Given the description of an element on the screen output the (x, y) to click on. 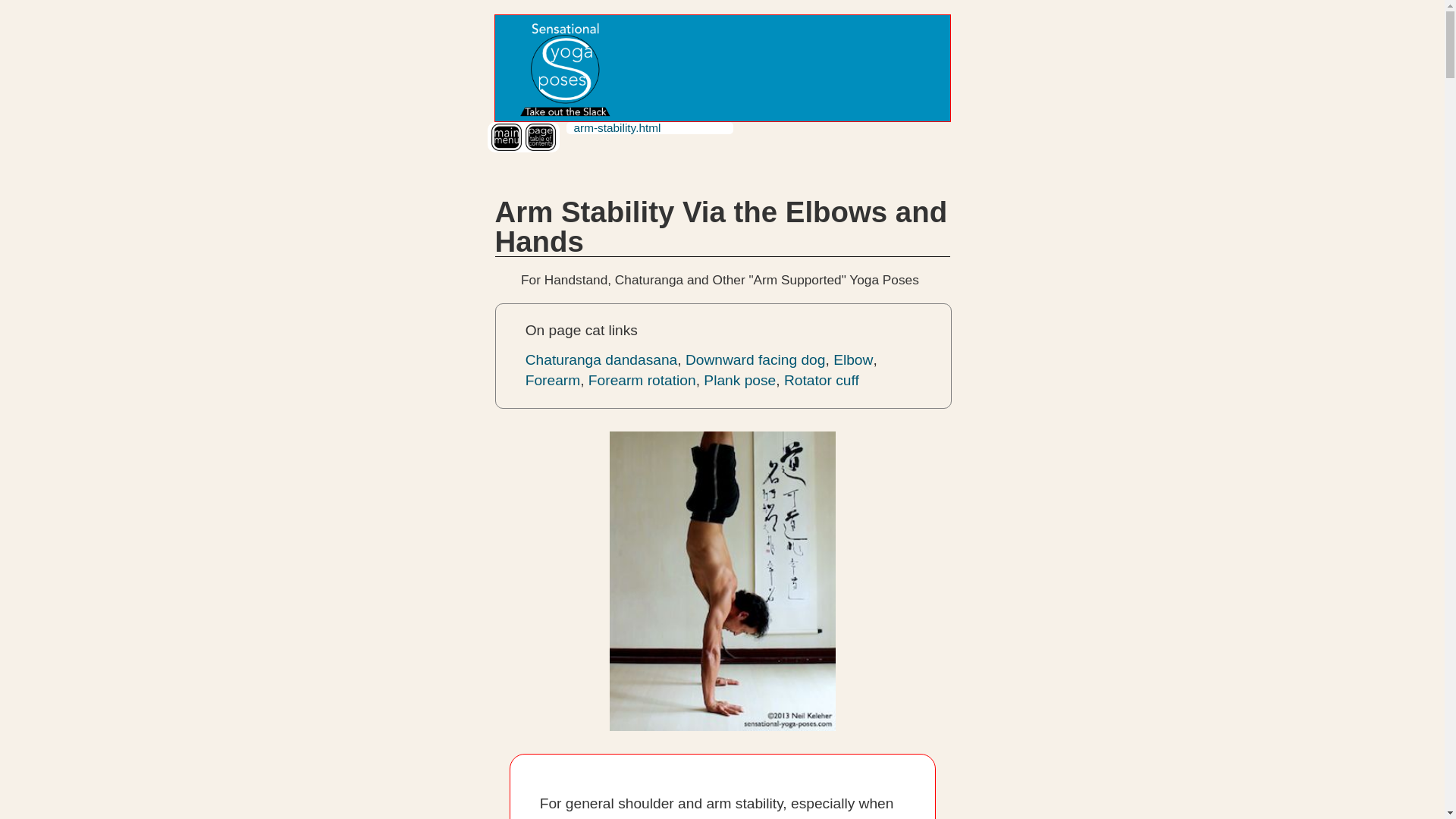
Rotator cuff (821, 380)
Chaturanga dandasana (601, 359)
Elbow (852, 359)
Plank pose (739, 380)
main menu (506, 137)
Forearm (552, 380)
Home (562, 68)
Page TOC (539, 137)
Downward facing dog (755, 359)
arm-stability.html (617, 127)
Forearm rotation (641, 380)
